Given the description of an element on the screen output the (x, y) to click on. 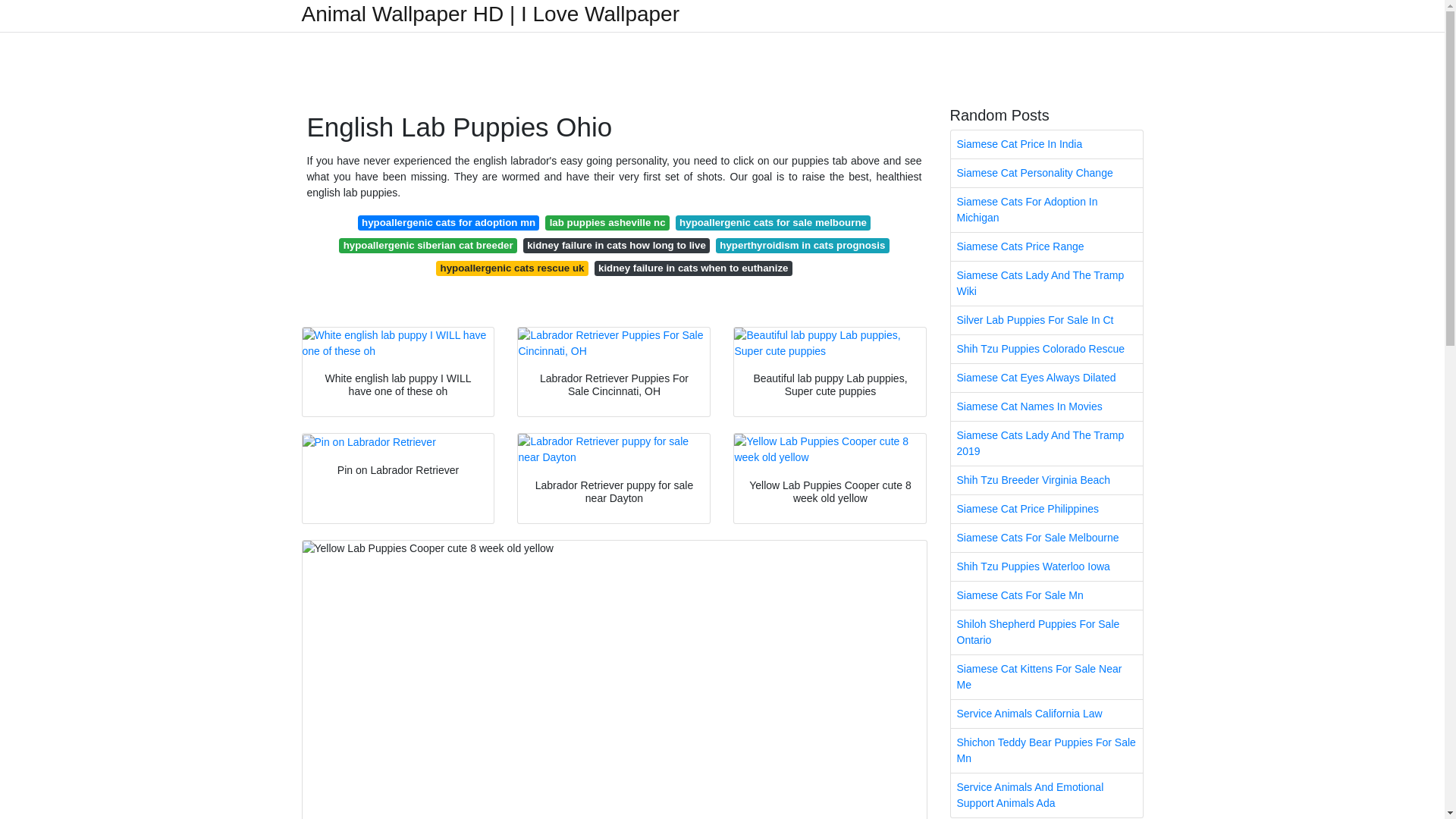
Siamese Cat Price In India (1046, 144)
Siamese Cats Lady And The Tramp Wiki (1046, 283)
Siamese Cat Names In Movies (1046, 406)
hypoallergenic cats for adoption mn (449, 222)
Shih Tzu Puppies Colorado Rescue (1046, 348)
hypoallergenic cats rescue uk (511, 268)
Siamese Cat Personality Change (1046, 172)
Silver Lab Puppies For Sale In Ct (1046, 320)
Siamese Cat Eyes Always Dilated (1046, 377)
Siamese Cats For Adoption In Michigan (1046, 209)
